Given the description of an element on the screen output the (x, y) to click on. 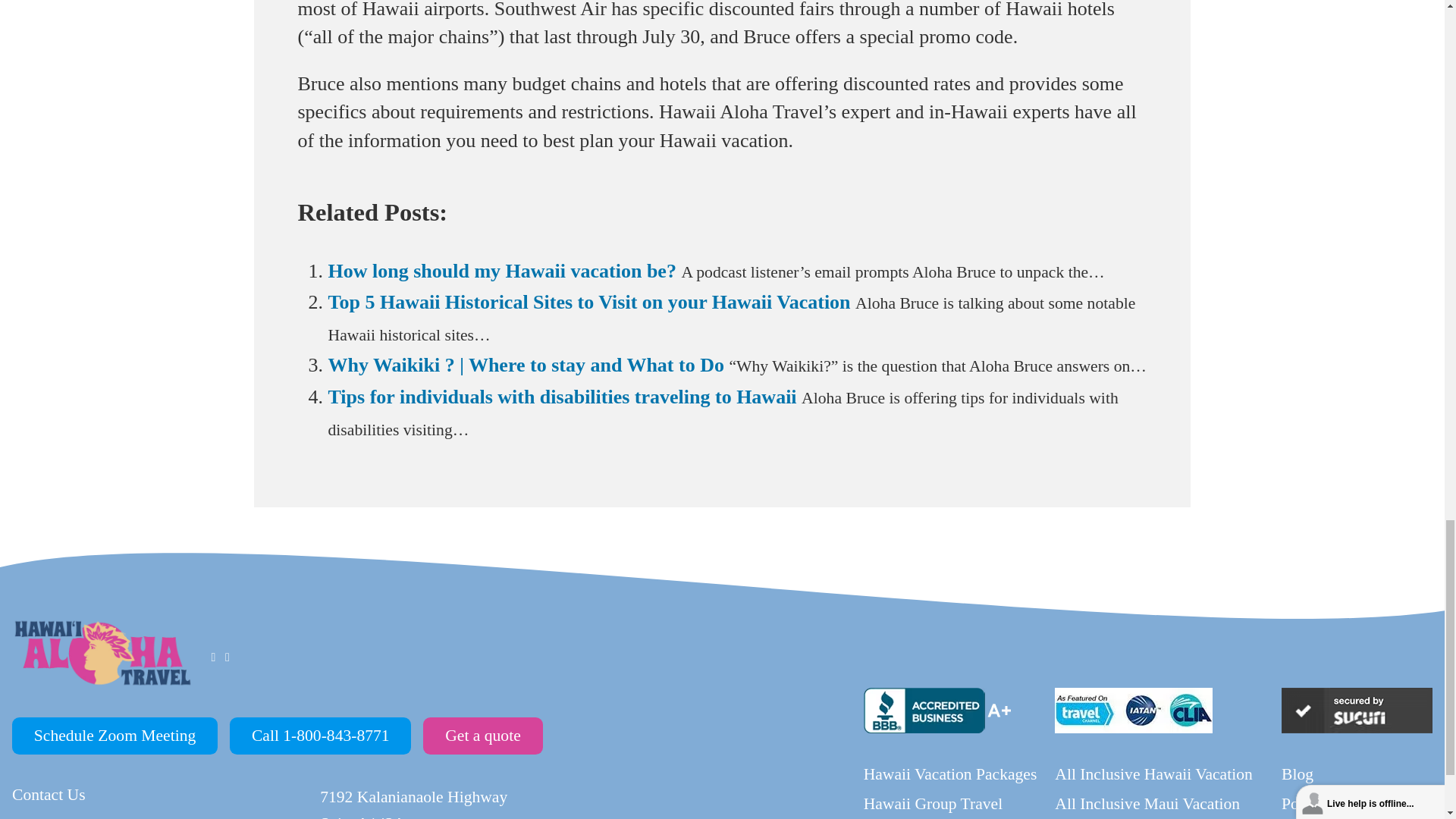
How long should my Hawaii vacation be? (501, 270)
Tips for individuals with disabilities traveling to Hawaii (561, 396)
